Given the description of an element on the screen output the (x, y) to click on. 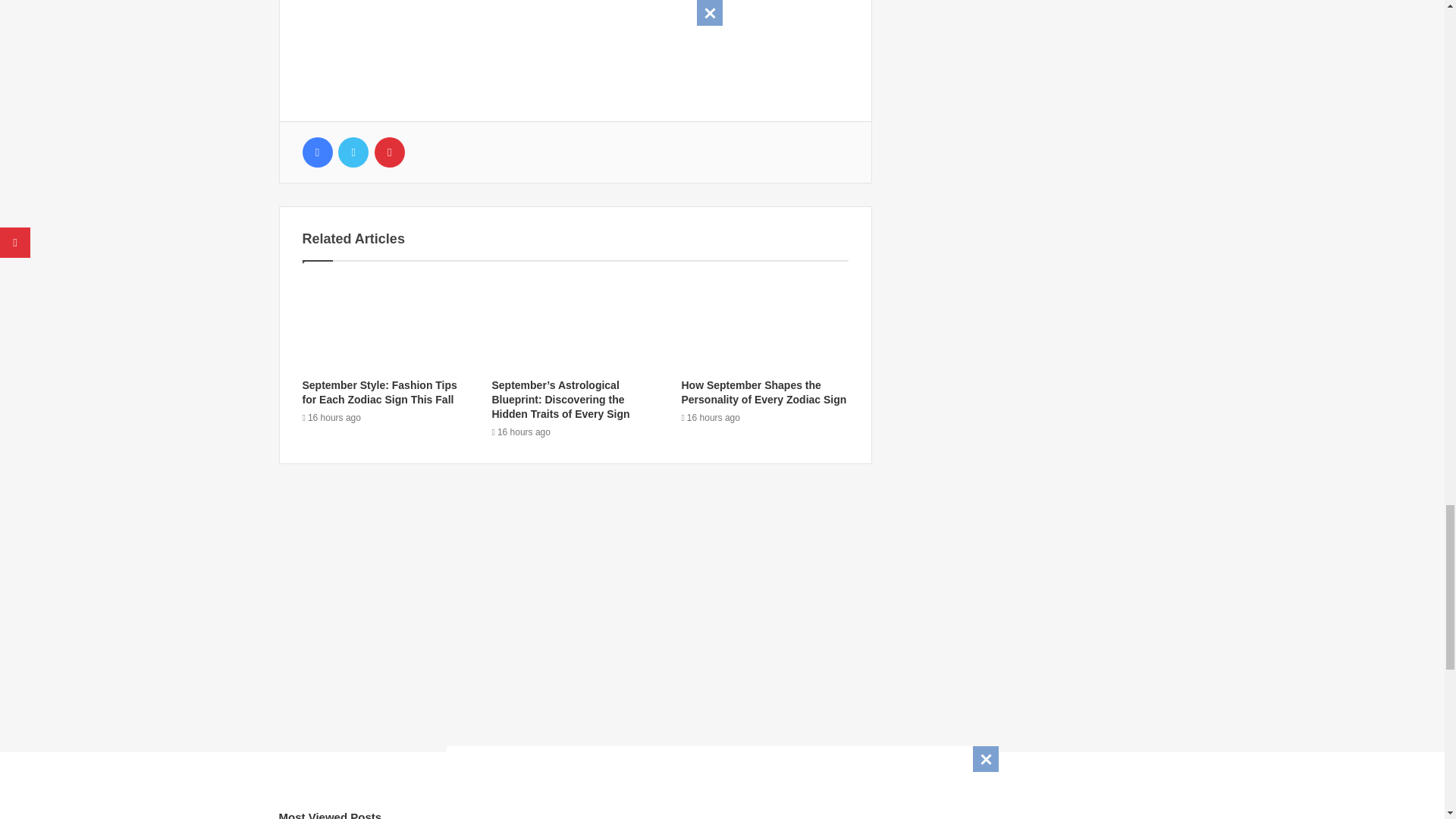
Facebook (316, 152)
How September Shapes the Personality of Every Zodiac Sign (763, 392)
Twitter (352, 152)
September Style: Fashion Tips for Each Zodiac Sign This Fall (379, 392)
Pinterest (389, 152)
